Given the description of an element on the screen output the (x, y) to click on. 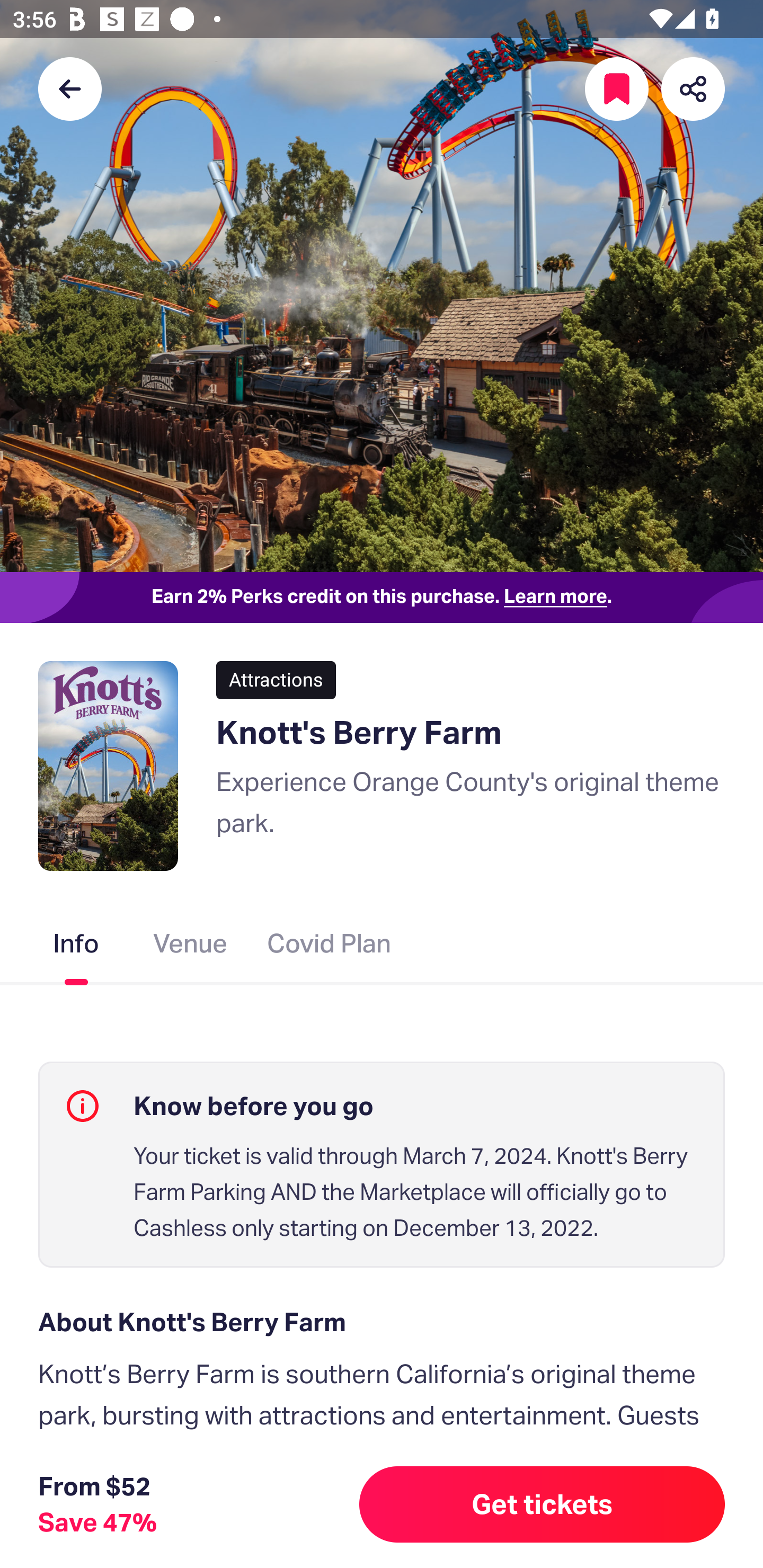
Earn 2% Perks credit on this purchase. Learn more. (381, 597)
Venue (190, 946)
Covid Plan (328, 946)
About Knott's Berry Farm (381, 1322)
Get tickets (541, 1504)
